Given the description of an element on the screen output the (x, y) to click on. 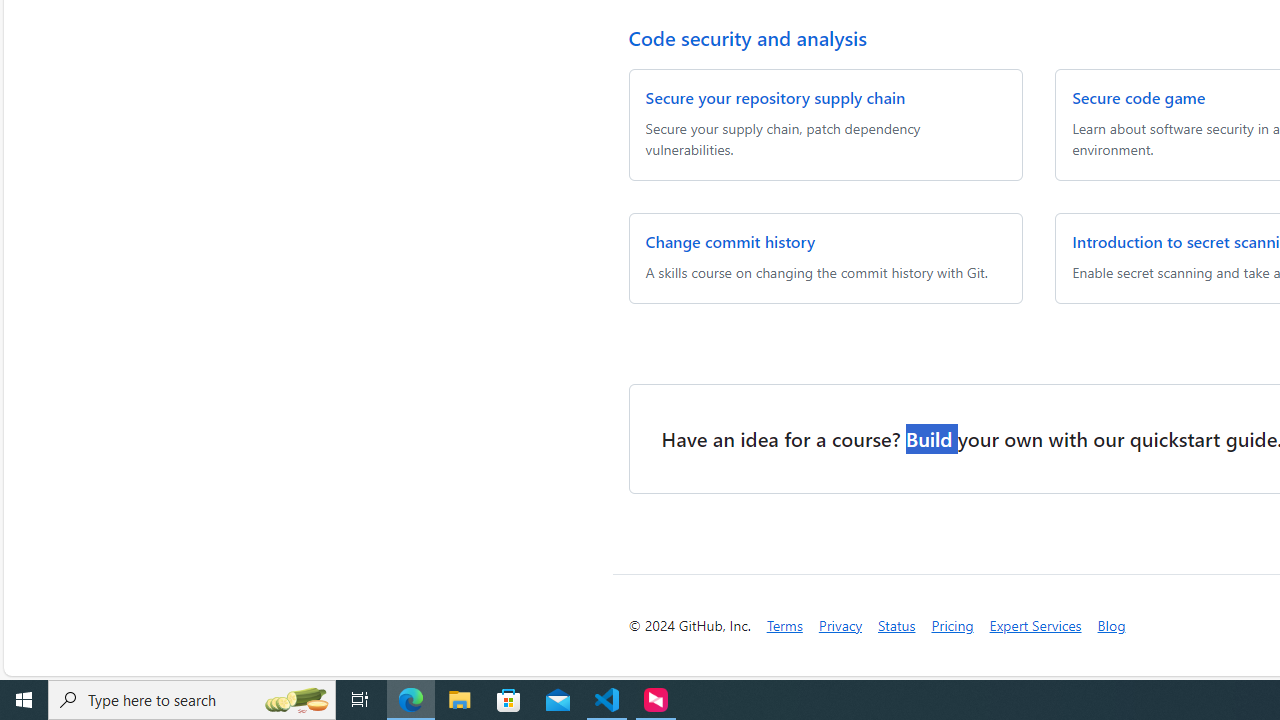
Status (897, 624)
